Given the description of an element on the screen output the (x, y) to click on. 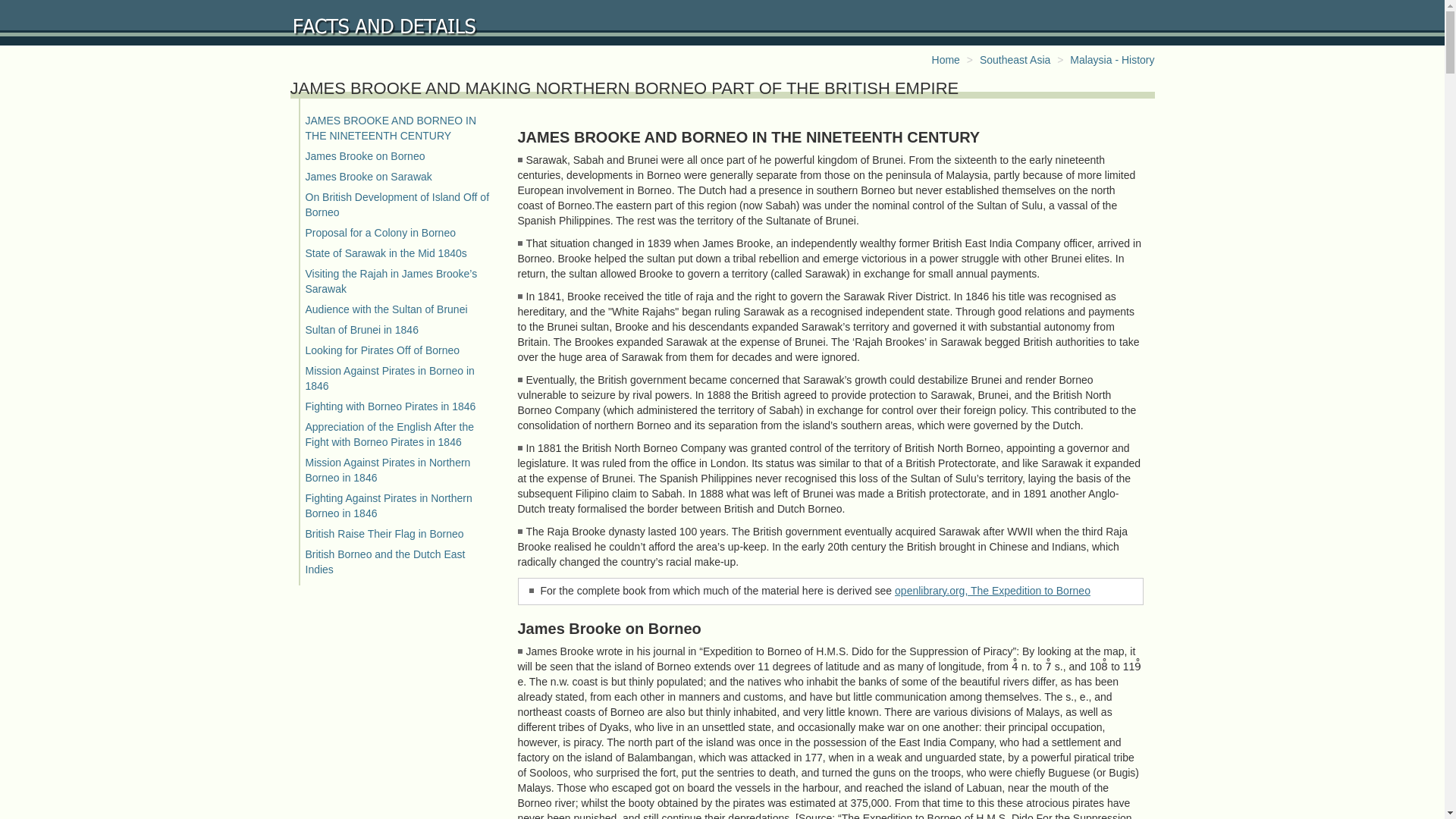
James Brooke on Borneo (364, 155)
Audience with the Sultan of Brunei (385, 309)
Fighting with Borneo Pirates in 1846 (390, 406)
openlibrary.org, The Expedition to Borneo (992, 590)
Home (945, 60)
Mission Against Pirates in Borneo in 1846 (389, 378)
Sultan of Brunei in 1846 (360, 329)
James Brooke on Sarawak (367, 176)
JAMES BROOKE AND BORNEO IN THE NINETEENTH CENTURY (390, 127)
Mission Against Pirates in Northern Borneo in 1846 (387, 470)
British Raise Their Flag in Borneo (383, 533)
Malaysia - History (1112, 60)
On British Development of Island Off of Borneo (396, 204)
State of Sarawak in the Mid 1840s (384, 253)
Looking for Pirates Off of Borneo (382, 349)
